Given the description of an element on the screen output the (x, y) to click on. 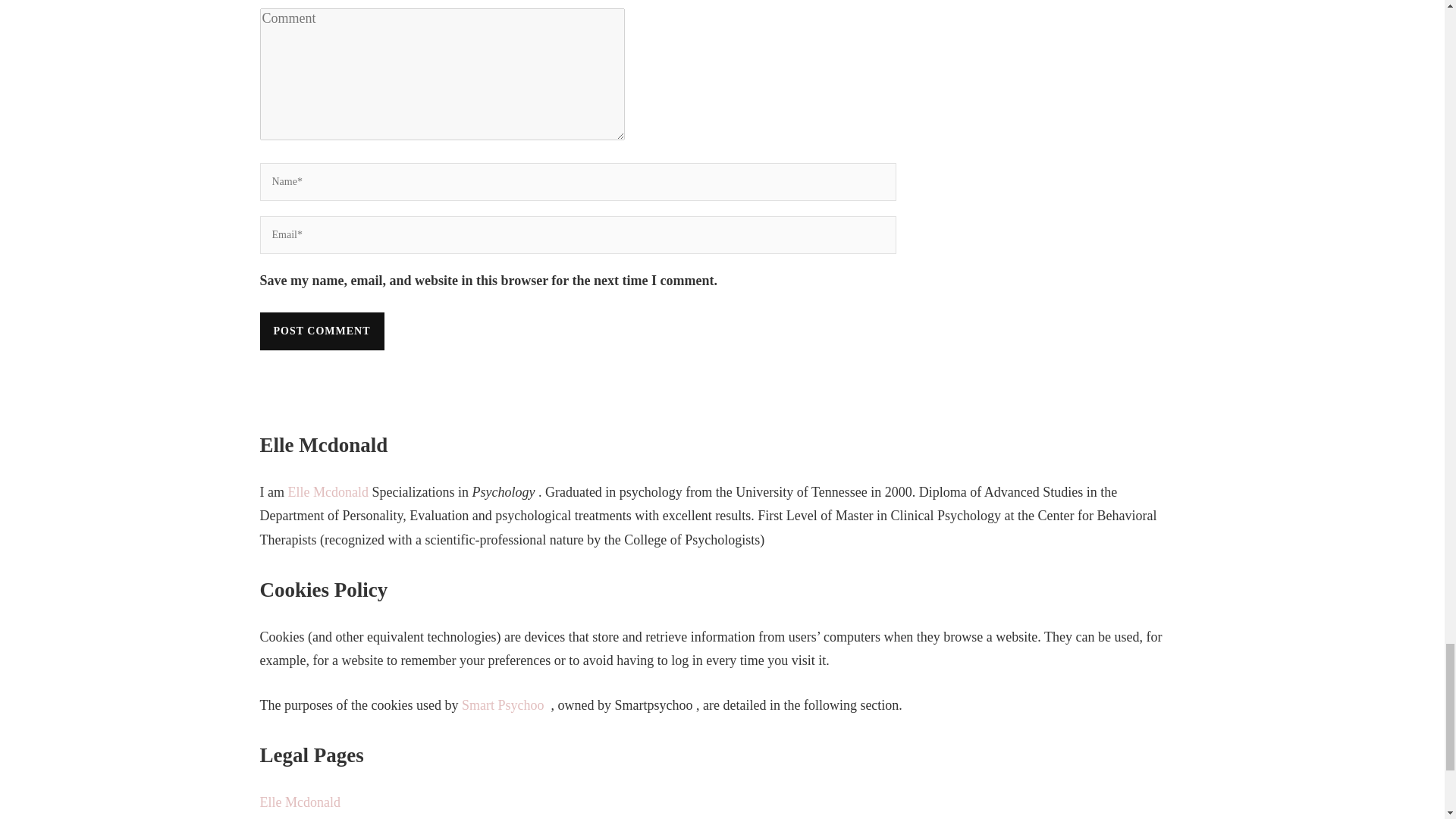
Post Comment (321, 331)
